Given the description of an element on the screen output the (x, y) to click on. 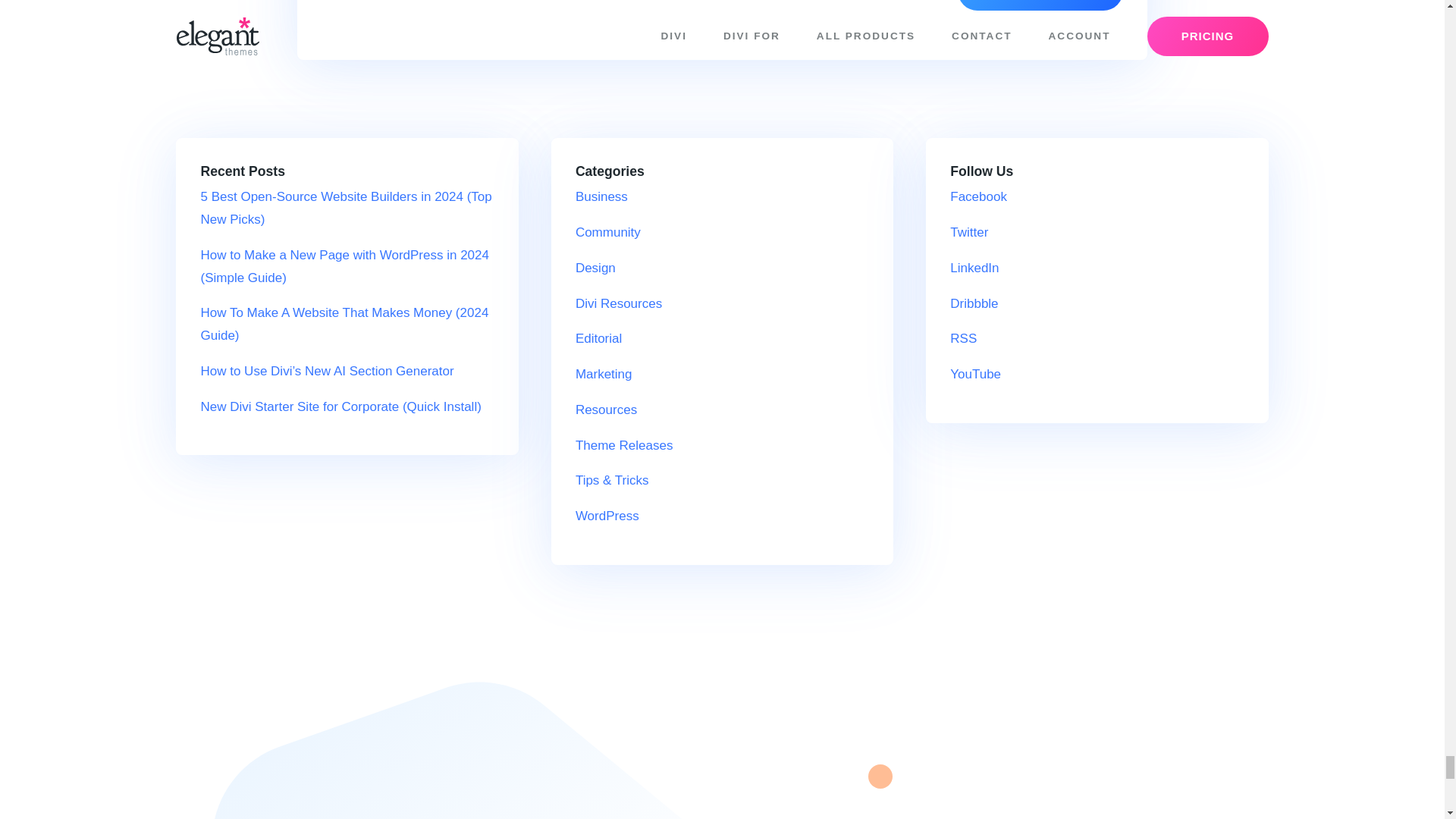
Submit Comment (1040, 5)
